Given the description of an element on the screen output the (x, y) to click on. 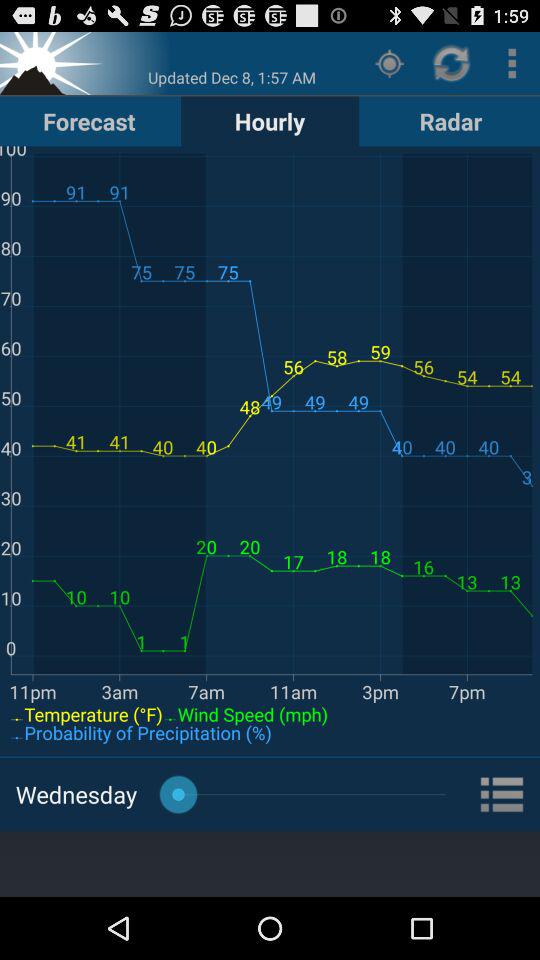
sunsed (53, 62)
